Given the description of an element on the screen output the (x, y) to click on. 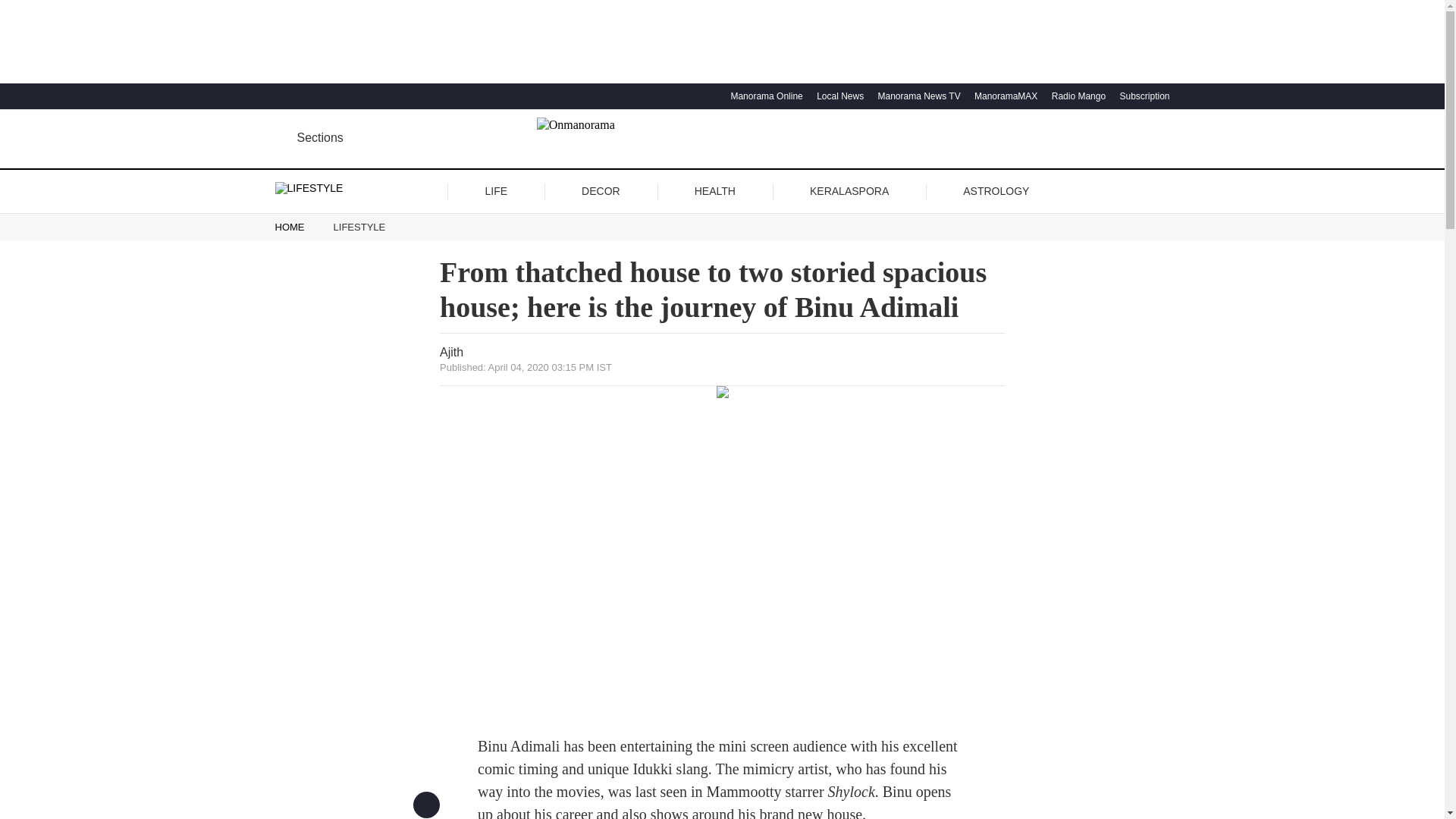
Radio Mango (1076, 95)
HEALTH (714, 191)
DECOR (600, 191)
Manorama News TV (916, 95)
KERALASPORA (849, 191)
LIFE (496, 191)
ManoramaMAX (1003, 95)
Local News (837, 95)
Subscription (1142, 95)
Manorama Online (764, 95)
